Given the description of an element on the screen output the (x, y) to click on. 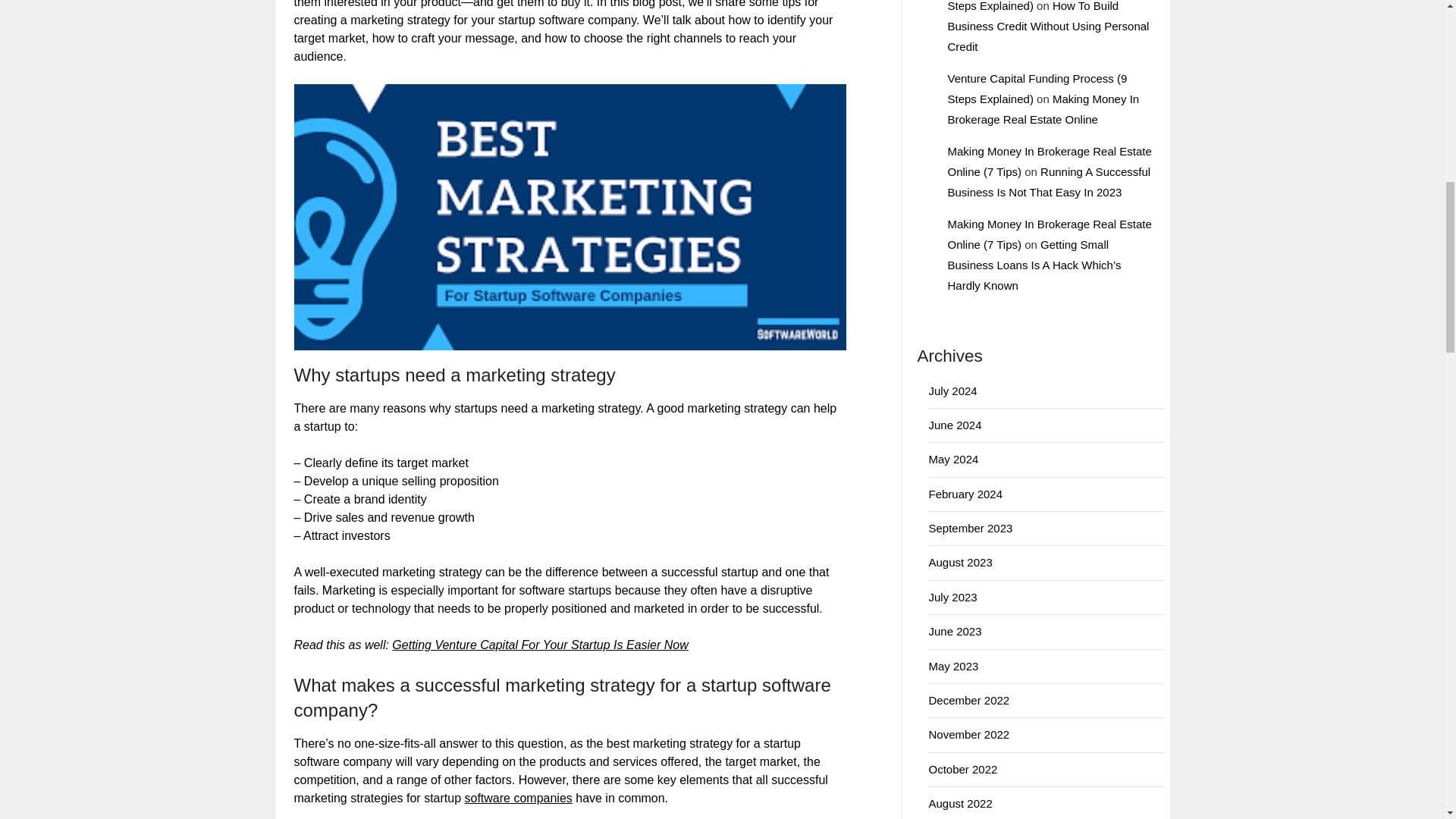
June 2024 (954, 424)
Getting Venture Capital For Your Startup Is Easier Now (539, 644)
July 2023 (952, 596)
February 2024 (965, 493)
How To Build Business Credit Without Using Personal Credit (1047, 26)
September 2023 (969, 527)
May 2024 (953, 459)
software companies (518, 797)
July 2024 (952, 390)
Making Money In Brokerage Real Estate Online (1042, 109)
Running A Successful Business Is Not That Easy In 2023 (1048, 182)
August 2023 (959, 562)
June 2023 (954, 631)
